Given the description of an element on the screen output the (x, y) to click on. 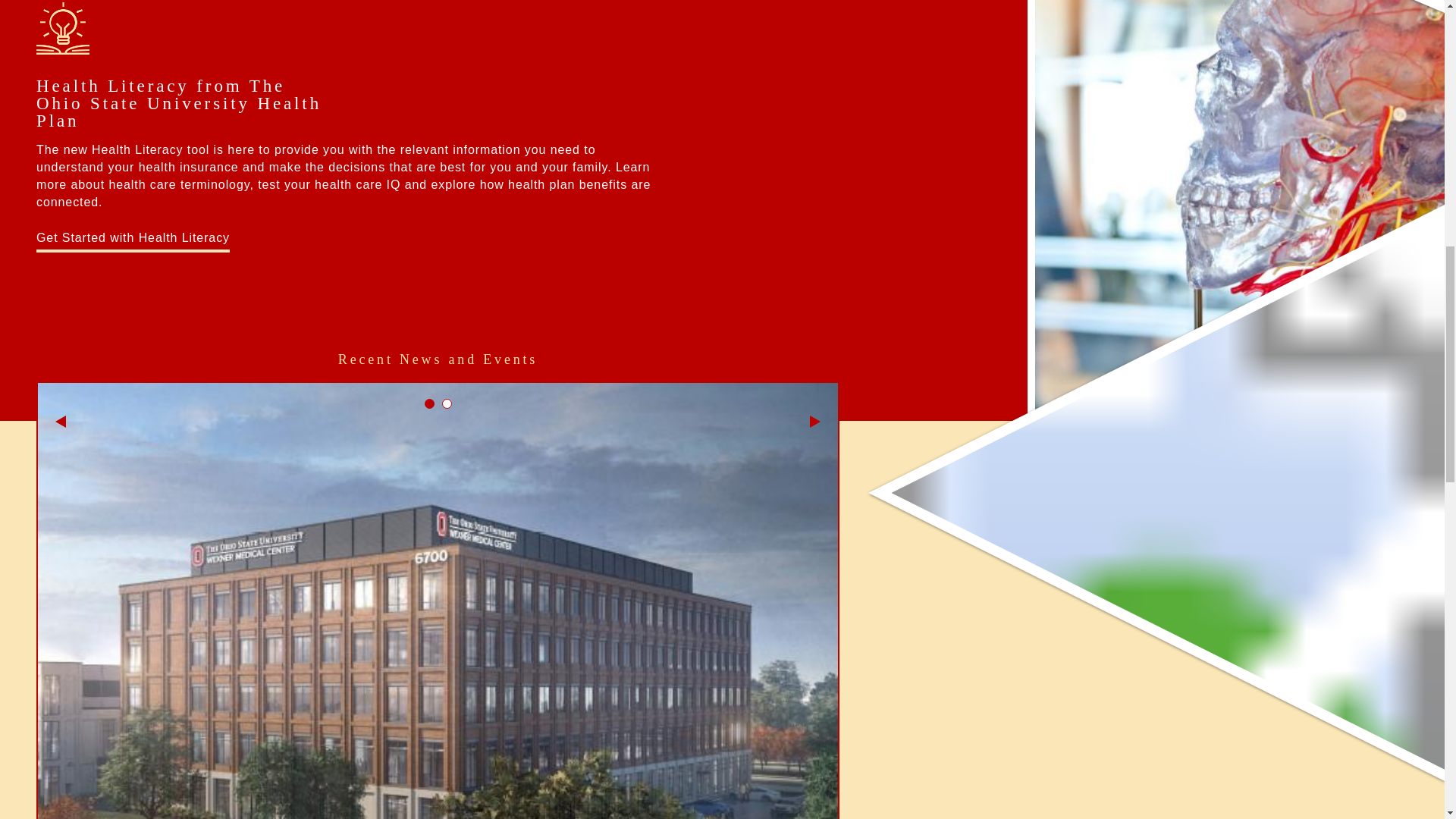
Slide 1 (429, 403)
Slide 2 (446, 403)
Get Started with Health Literacy (133, 240)
